Given the description of an element on the screen output the (x, y) to click on. 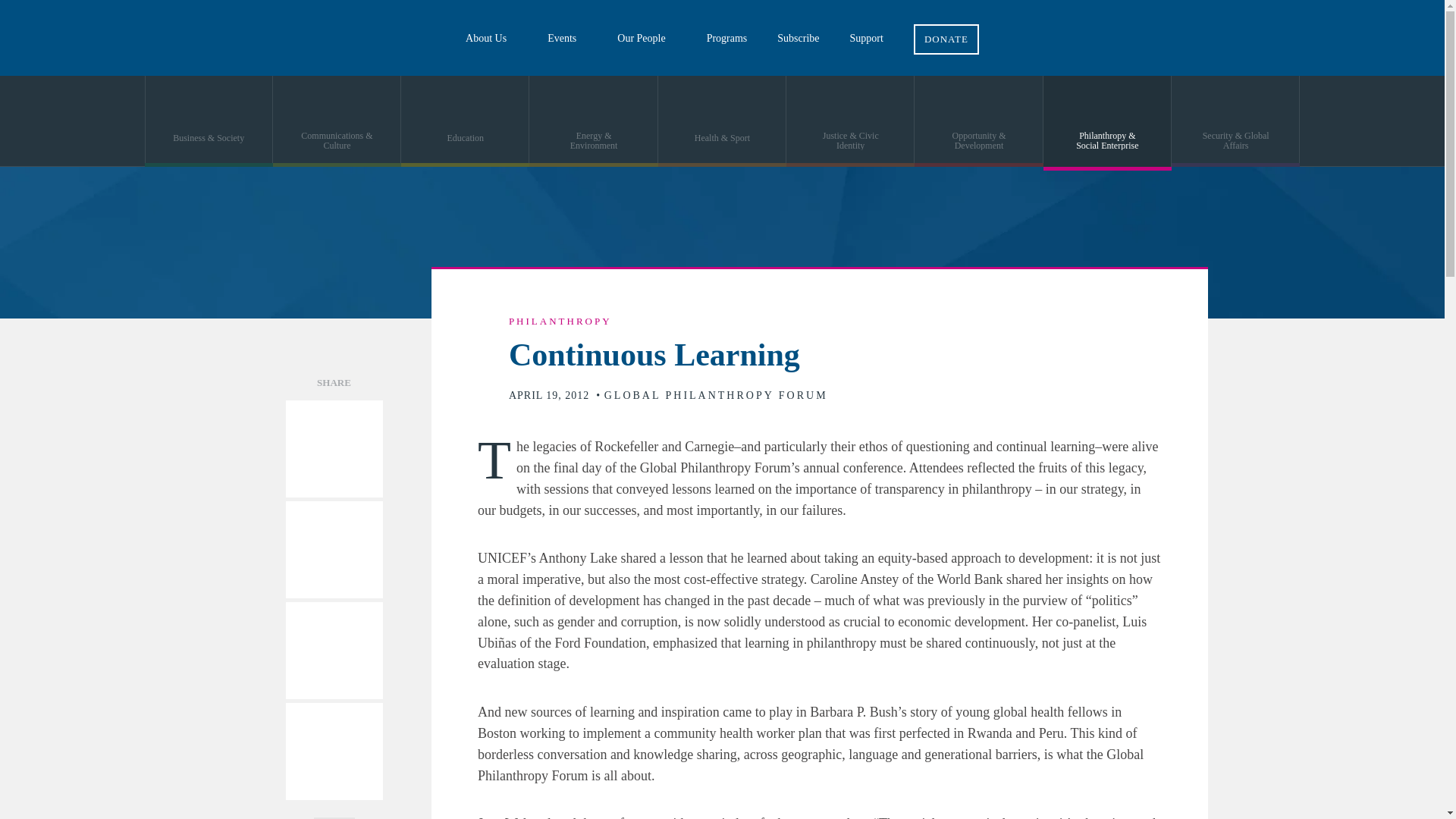
The Aspen Institute (113, 38)
Subscribe (797, 38)
DONATE (946, 27)
Education (465, 121)
About Us (490, 38)
Programs (726, 38)
Our People (646, 38)
Events (567, 38)
